Given the description of an element on the screen output the (x, y) to click on. 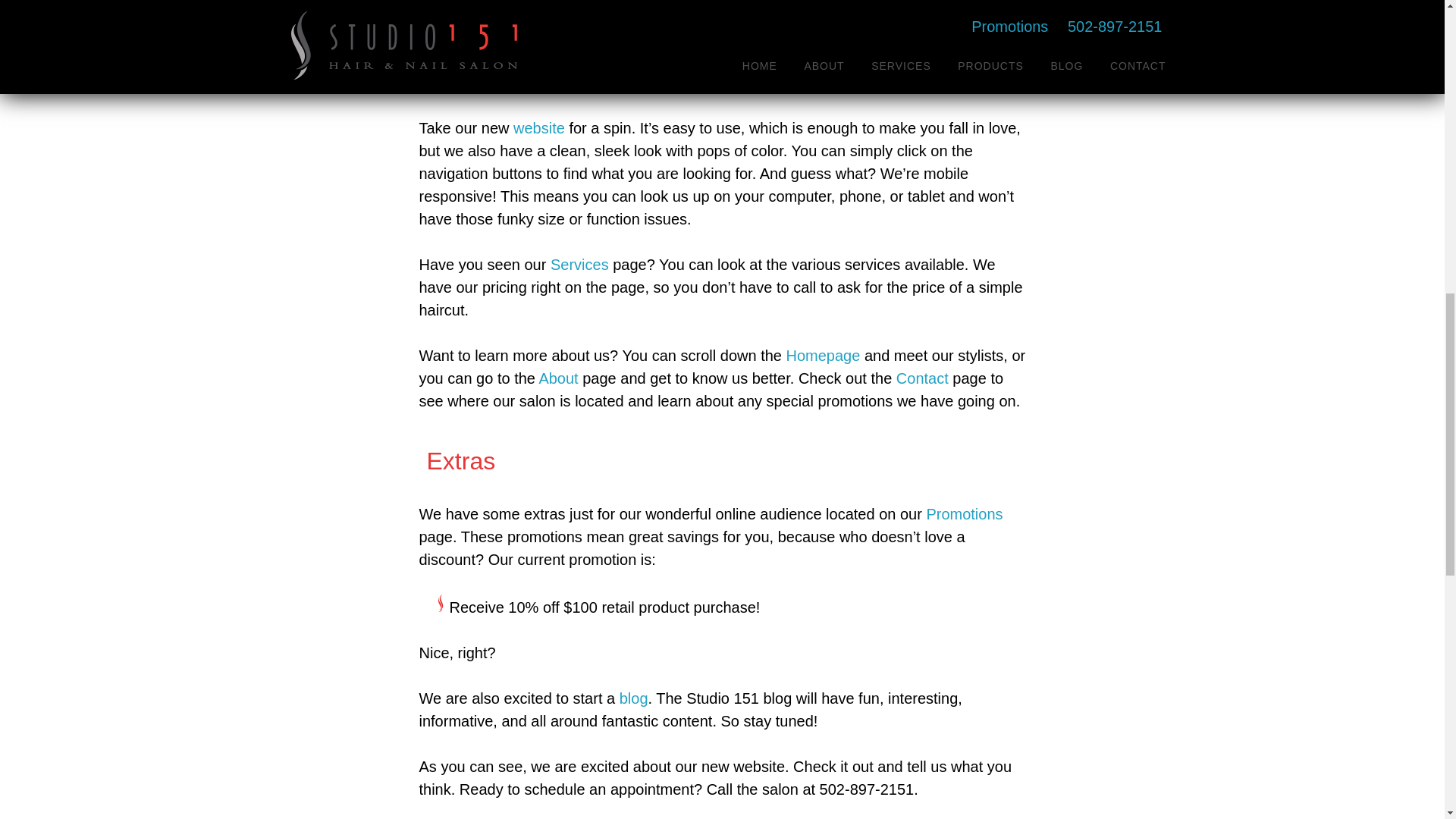
Services (579, 264)
blog (633, 698)
Contact (922, 378)
Promotions (964, 514)
Homepage (823, 355)
About (558, 378)
website (538, 127)
